Given the description of an element on the screen output the (x, y) to click on. 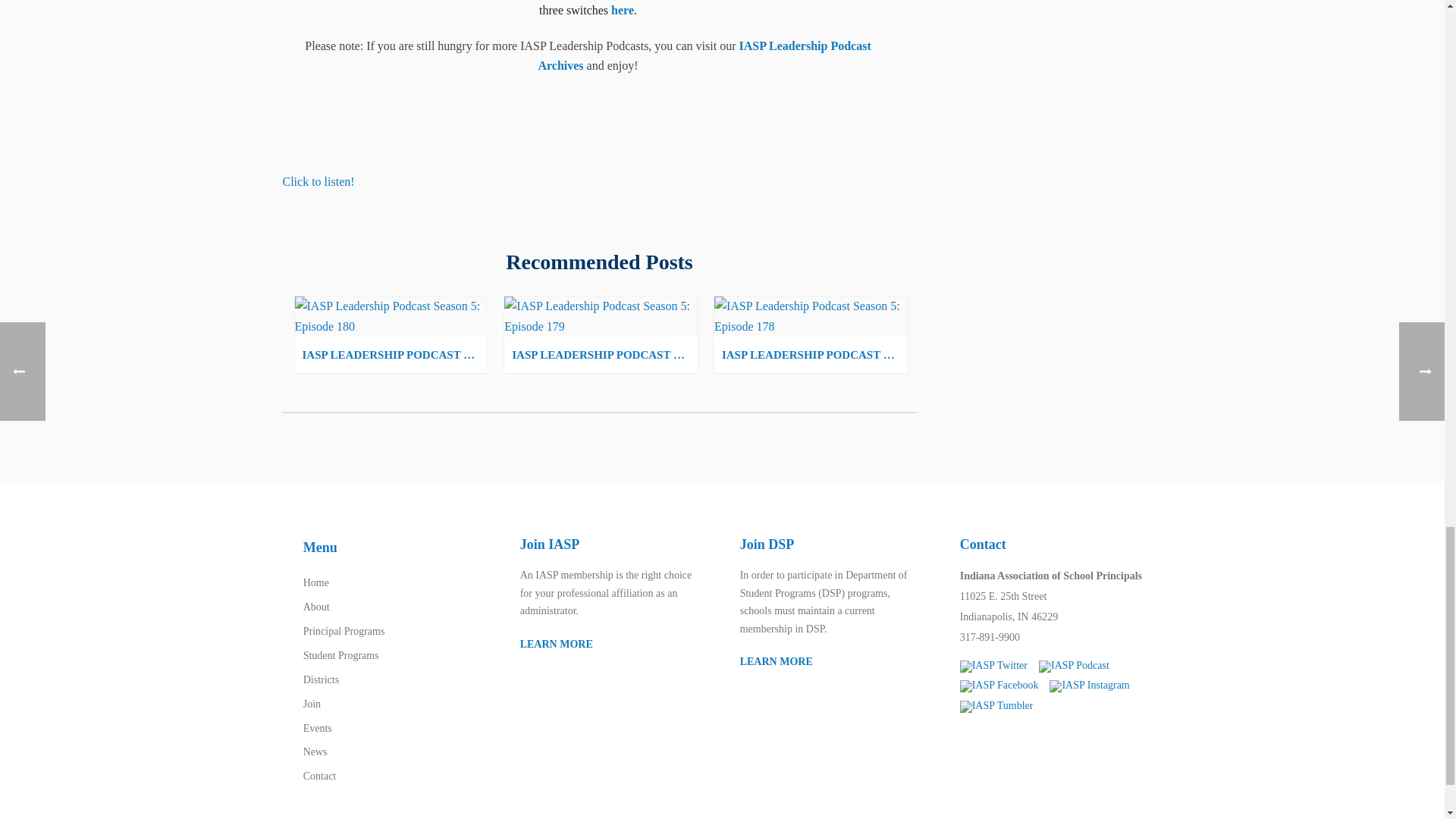
 IASP Facebook (999, 686)
IASP Leadership Podcast Season 5: Episode 180 (390, 316)
 IASP Twitter (993, 666)
 IASP Instagram (1089, 686)
IASP Leadership Podcast Season 5: Episode 178 (810, 316)
IASP Leadership Podcast Season 5: Episode 179 (600, 316)
 IASP Tumbler (996, 706)
 IASP Podcast (1074, 666)
